Given the description of an element on the screen output the (x, y) to click on. 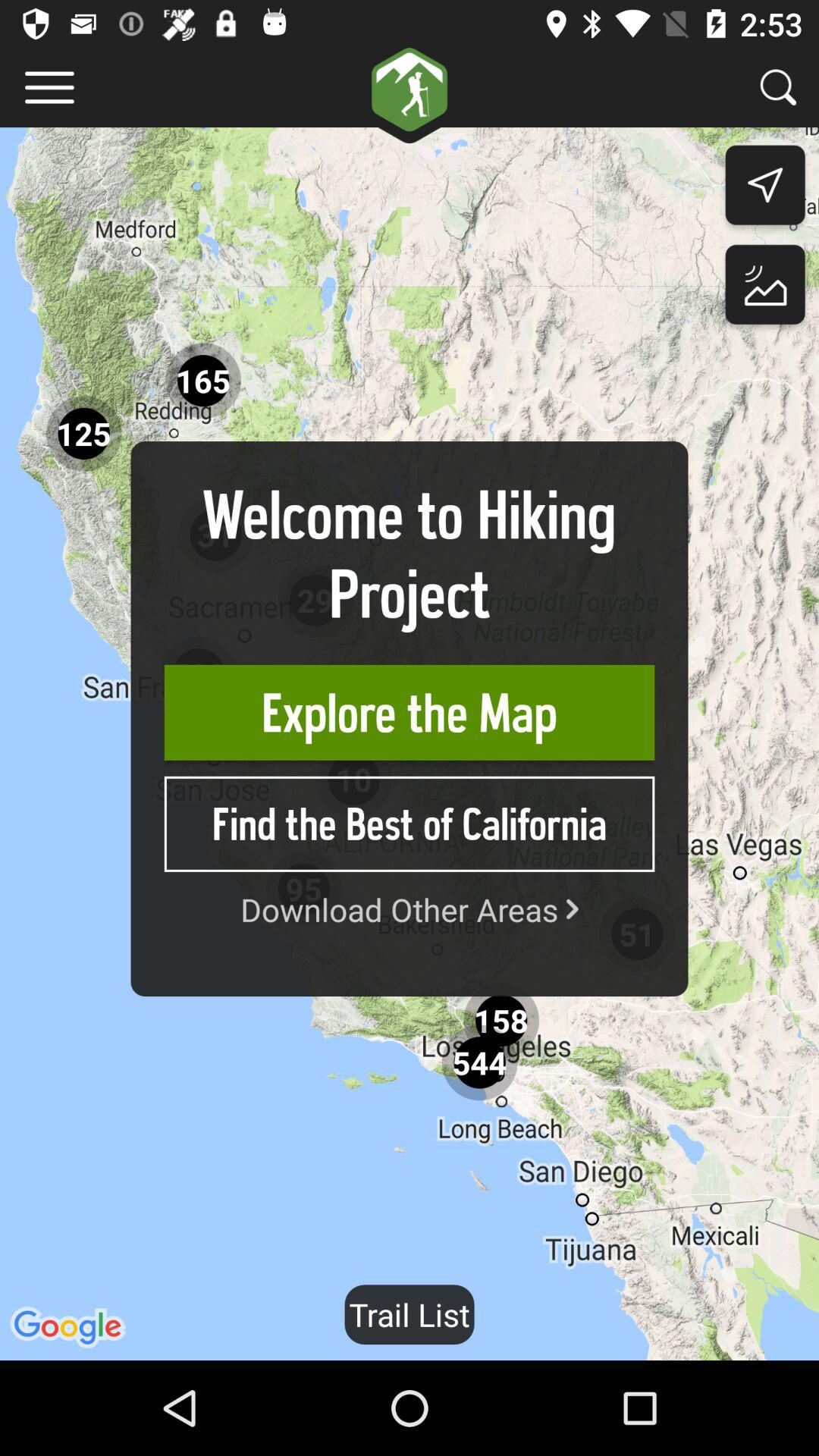
open search option (778, 87)
